Given the description of an element on the screen output the (x, y) to click on. 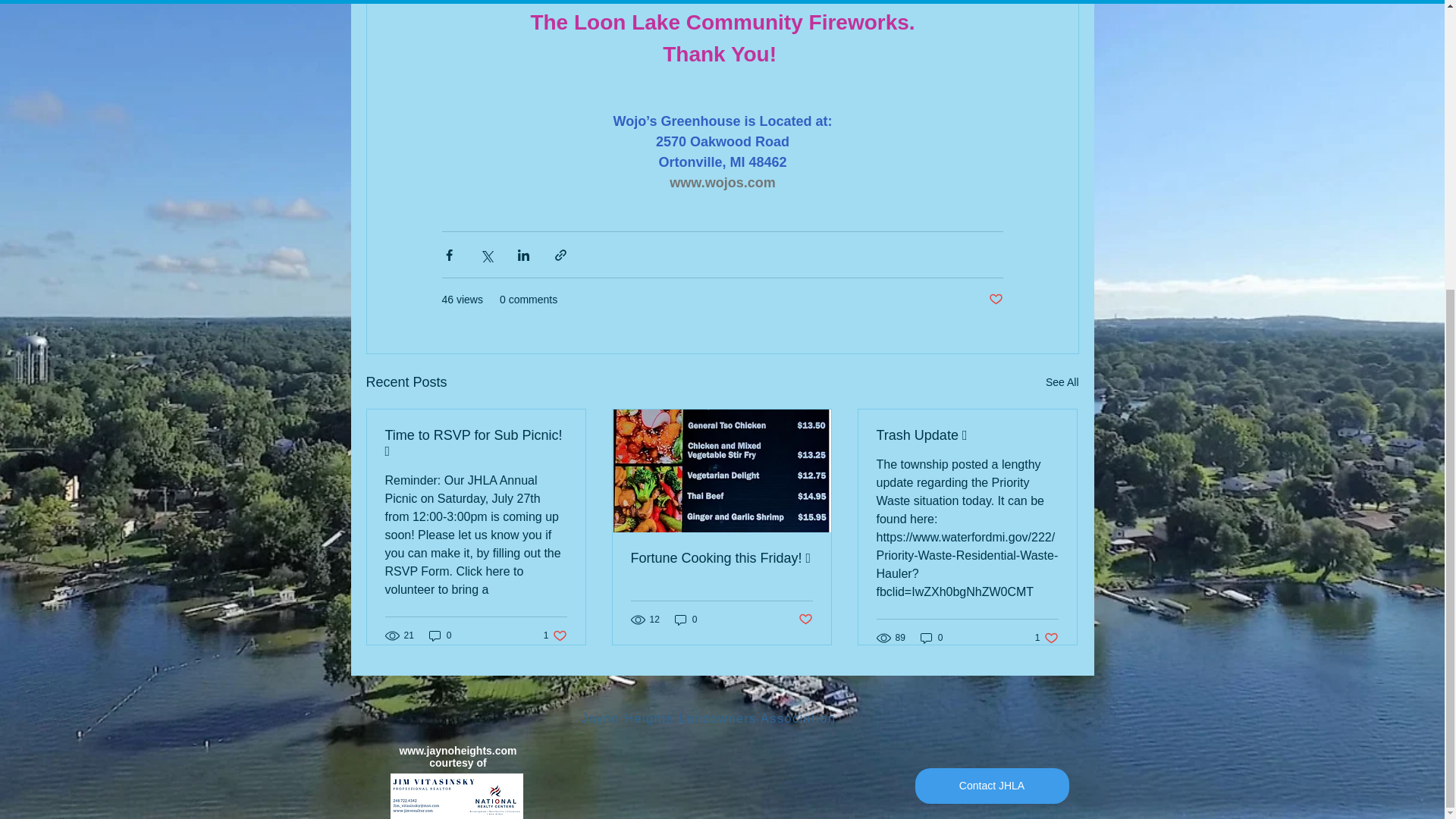
Post not marked as liked (804, 618)
See All (1061, 382)
0 (685, 619)
0 (440, 635)
0 (931, 637)
www.wojos.com (1046, 637)
Contact JHLA (721, 182)
www.jaynoheights.com (991, 785)
Post not marked as liked (457, 750)
